Given the description of an element on the screen output the (x, y) to click on. 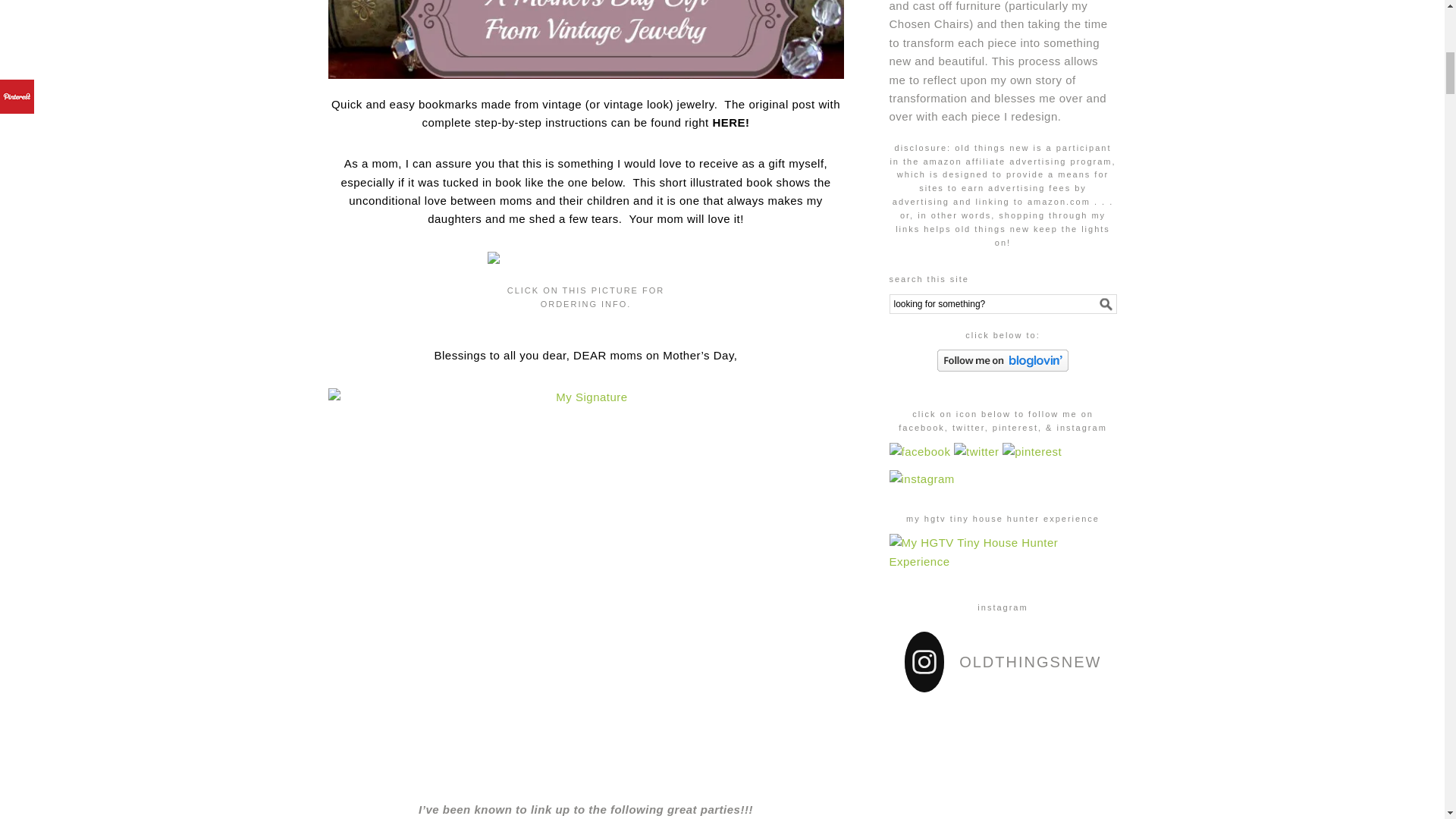
HERE! (730, 122)
